Given the description of an element on the screen output the (x, y) to click on. 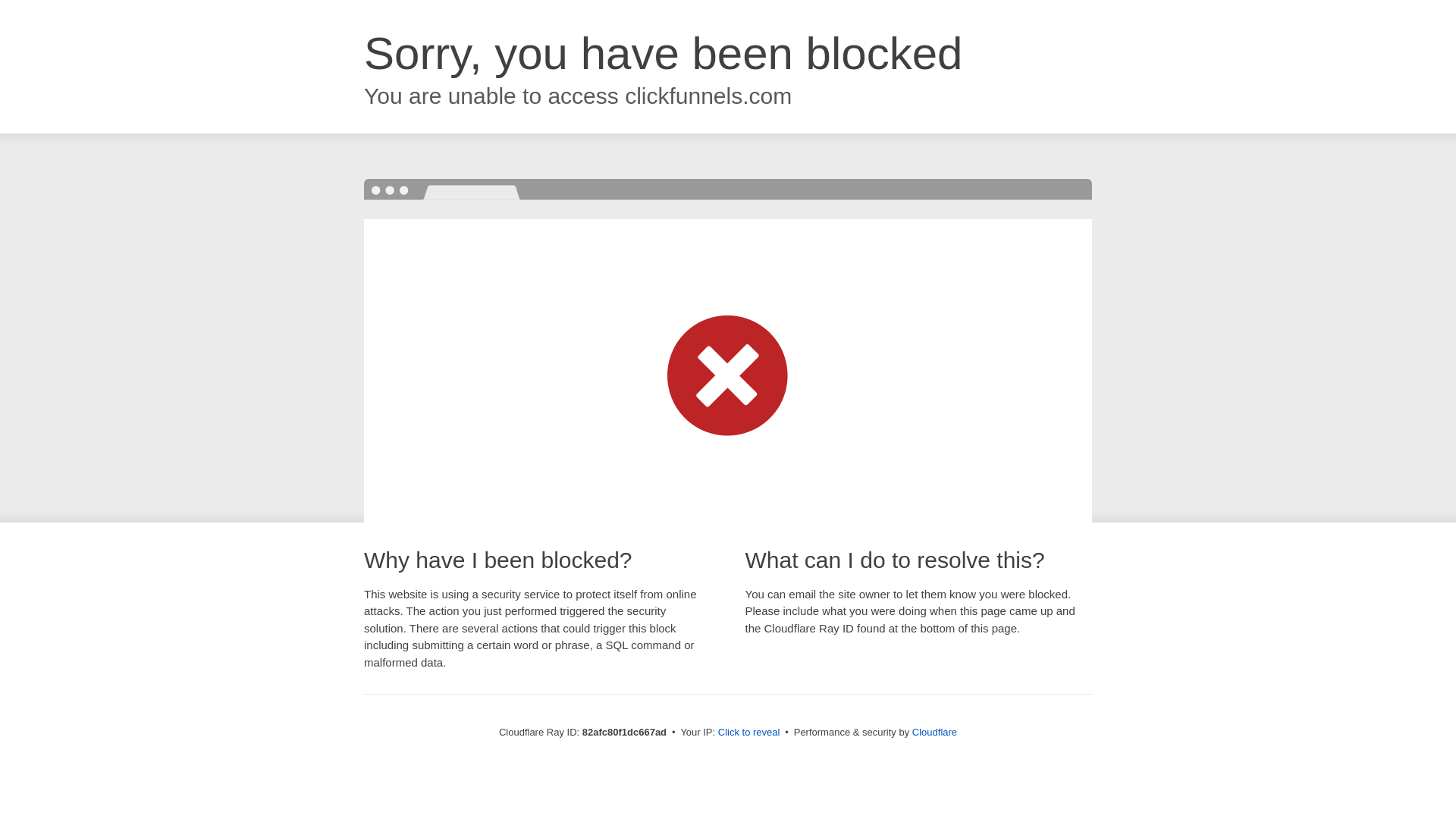
Cloudflare Element type: text (934, 731)
Click to reveal Element type: text (749, 732)
